Given the description of an element on the screen output the (x, y) to click on. 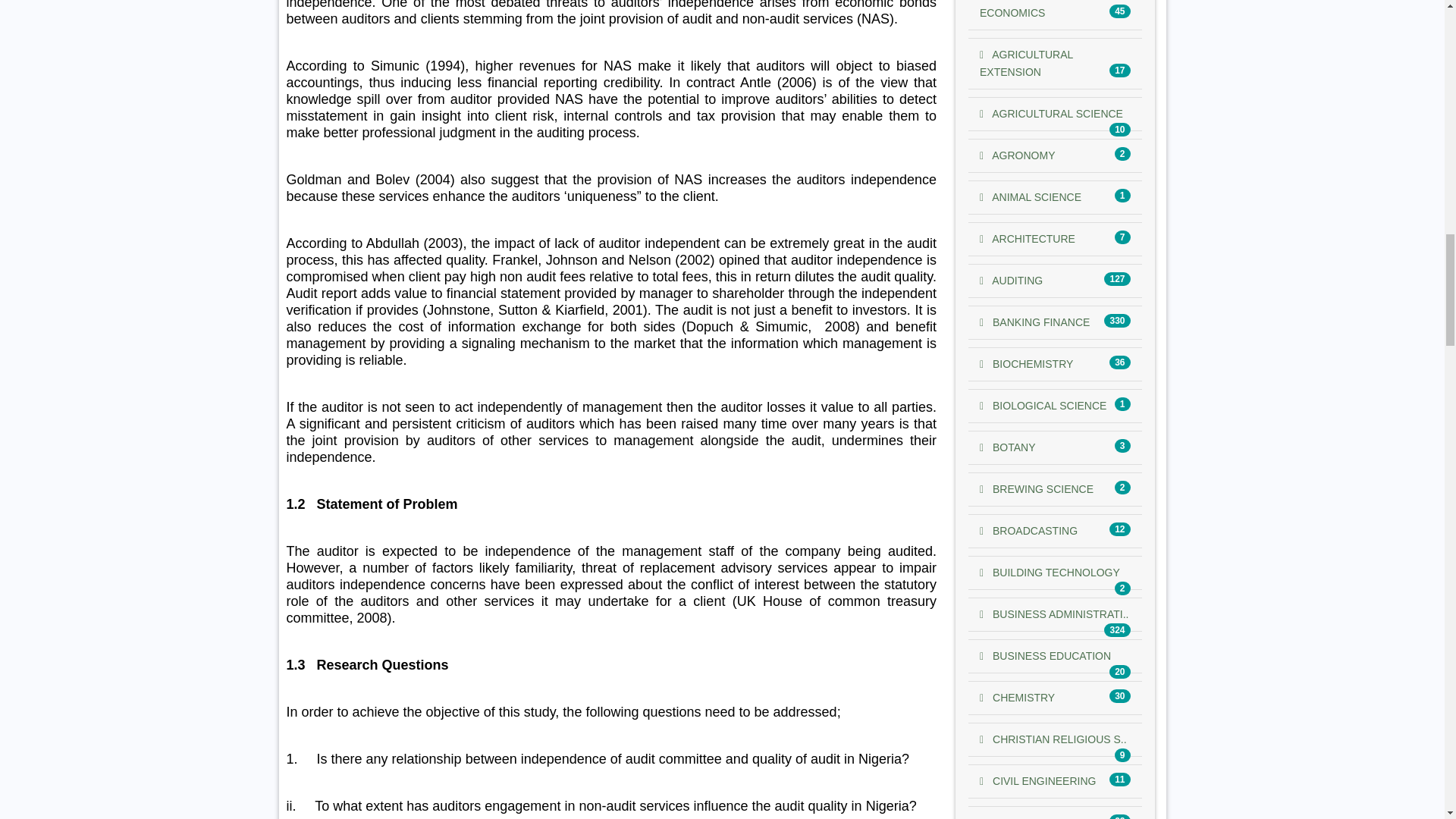
AUDITING  PROJECT TOPICS AND RESEARCH MATERIALS (1010, 280)
AGRICULTURAL EXTENSION PROJECT TOPICS AND RESEARCH MATERIALS (1026, 62)
BIOCHEMISTRY PROJECT TOPICS AND RESEARCH MATERIALS (1026, 363)
ANIMAL SCIENCE PROJECT TOPICS AND RESEARCH MATERIALS (1030, 196)
BANKING FINANCE PROJECT TOPICS AND RESEARCH MATERIALS (1034, 322)
ARCHITECTURE PROJECT TOPICS AND RESEARCH MATERIALS (1027, 238)
AGRICULTURAL SCIENCE PROJECT TOPICS AND RESEARCH MATERIALS (1050, 113)
BOTANY PROJECT TOPICS AND RESEARCH MATERIALS (1007, 447)
AGRONOMY PROJECT TOPICS AND RESEARCH MATERIALS (1016, 155)
BIOLOGICAL SCIENCE PROJECT TOPICS AND RESEARCH MATERIALS (1042, 405)
